Given the description of an element on the screen output the (x, y) to click on. 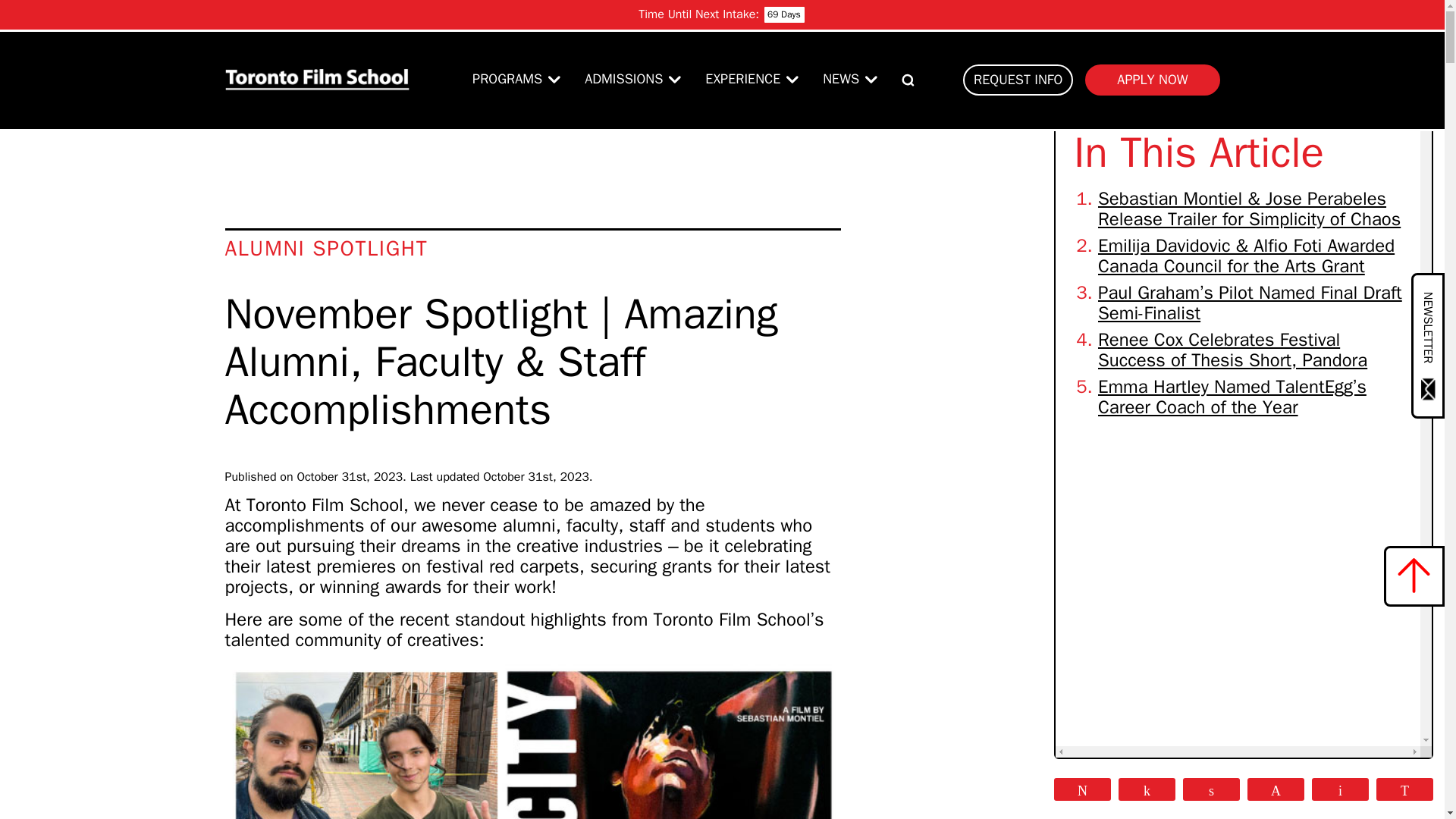
EXPERIENCE (742, 78)
PROGRAMS (506, 78)
ADMISSIONS (623, 78)
